Given the description of an element on the screen output the (x, y) to click on. 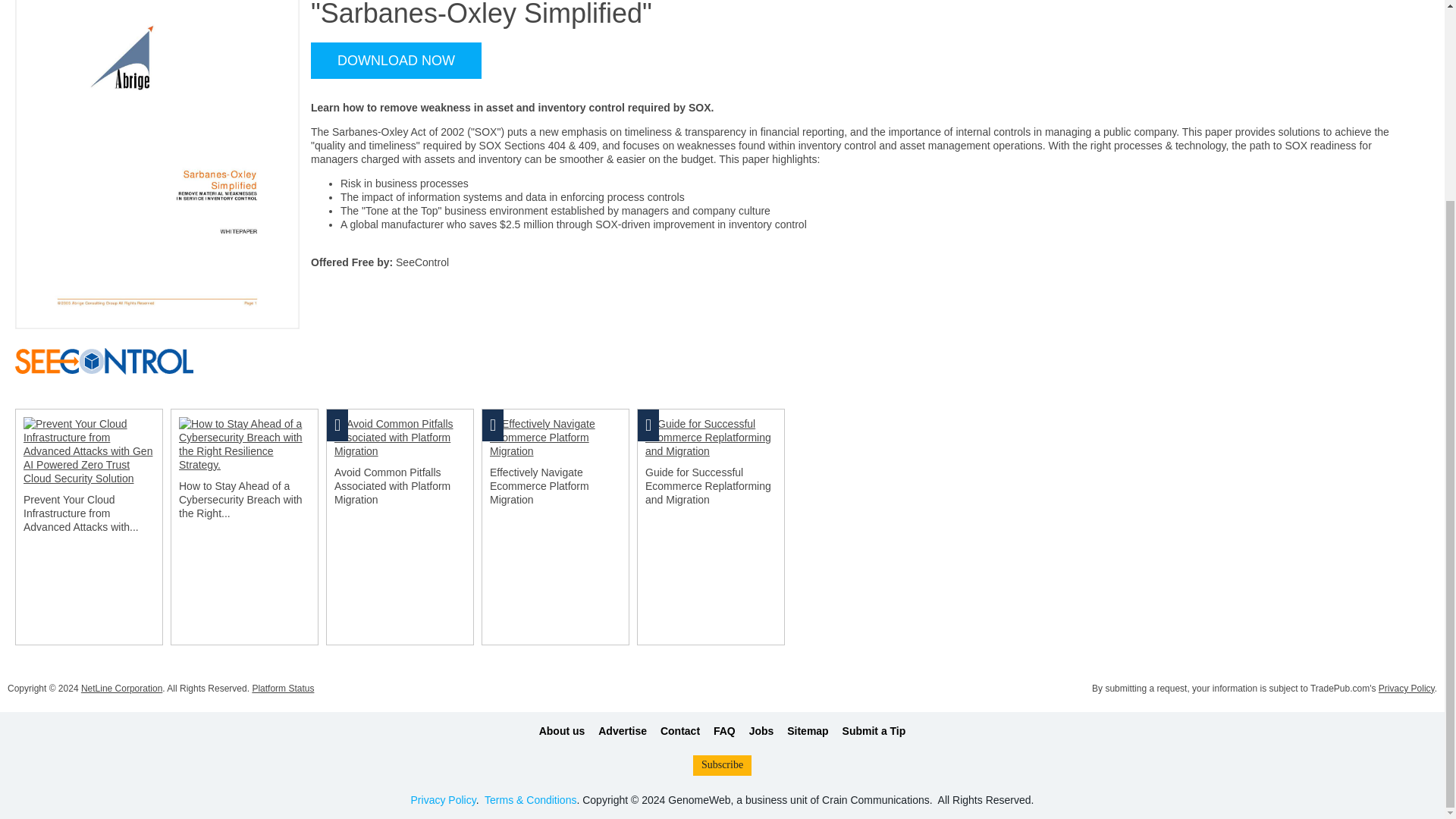
Privacy Policy (443, 799)
Terms and conditions (530, 799)
Get answers to frequently-asked questions. (724, 730)
A text sitemap of the website. (807, 730)
